Given the description of an element on the screen output the (x, y) to click on. 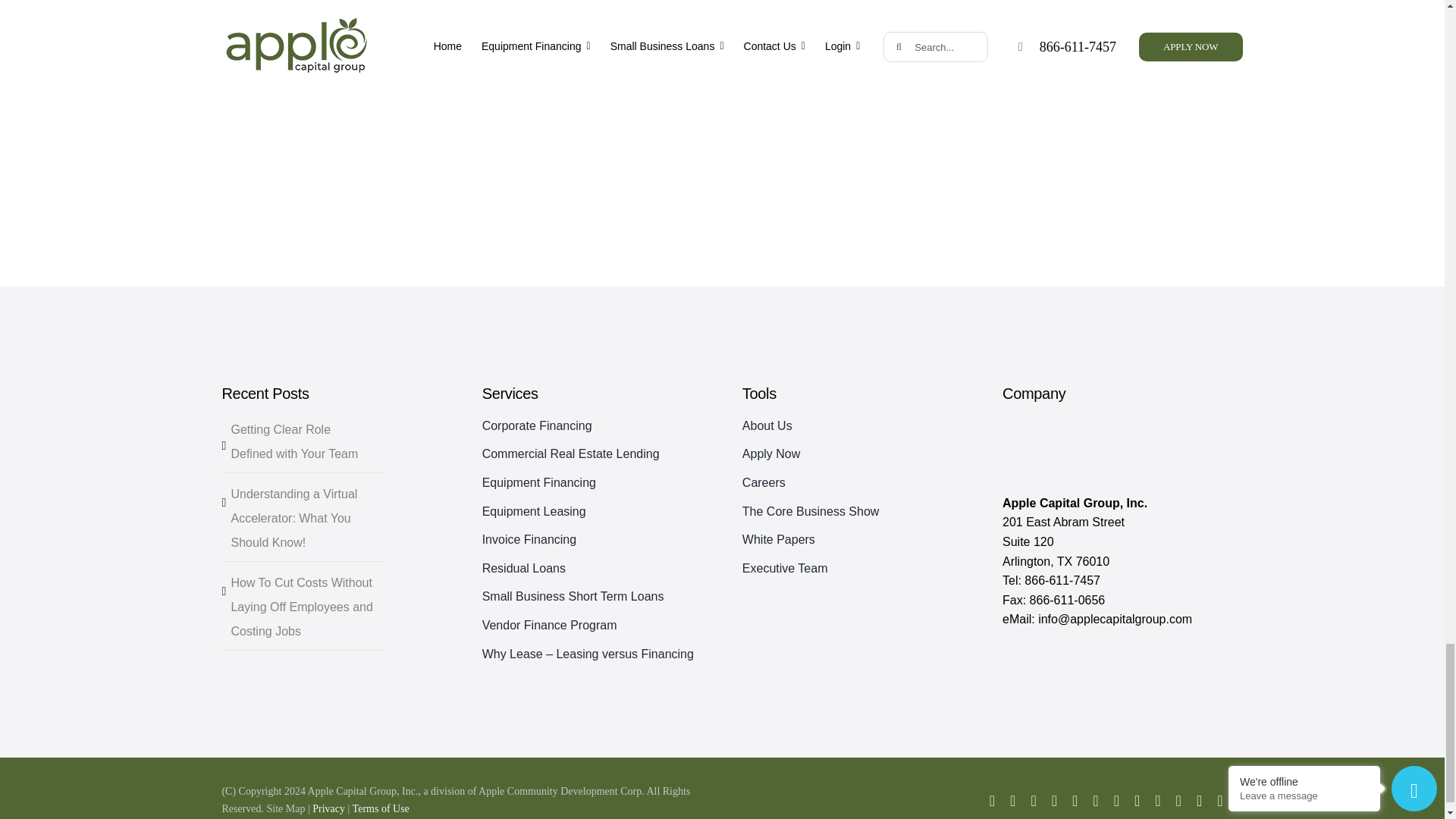
apple capital group (1078, 448)
